Given the description of an element on the screen output the (x, y) to click on. 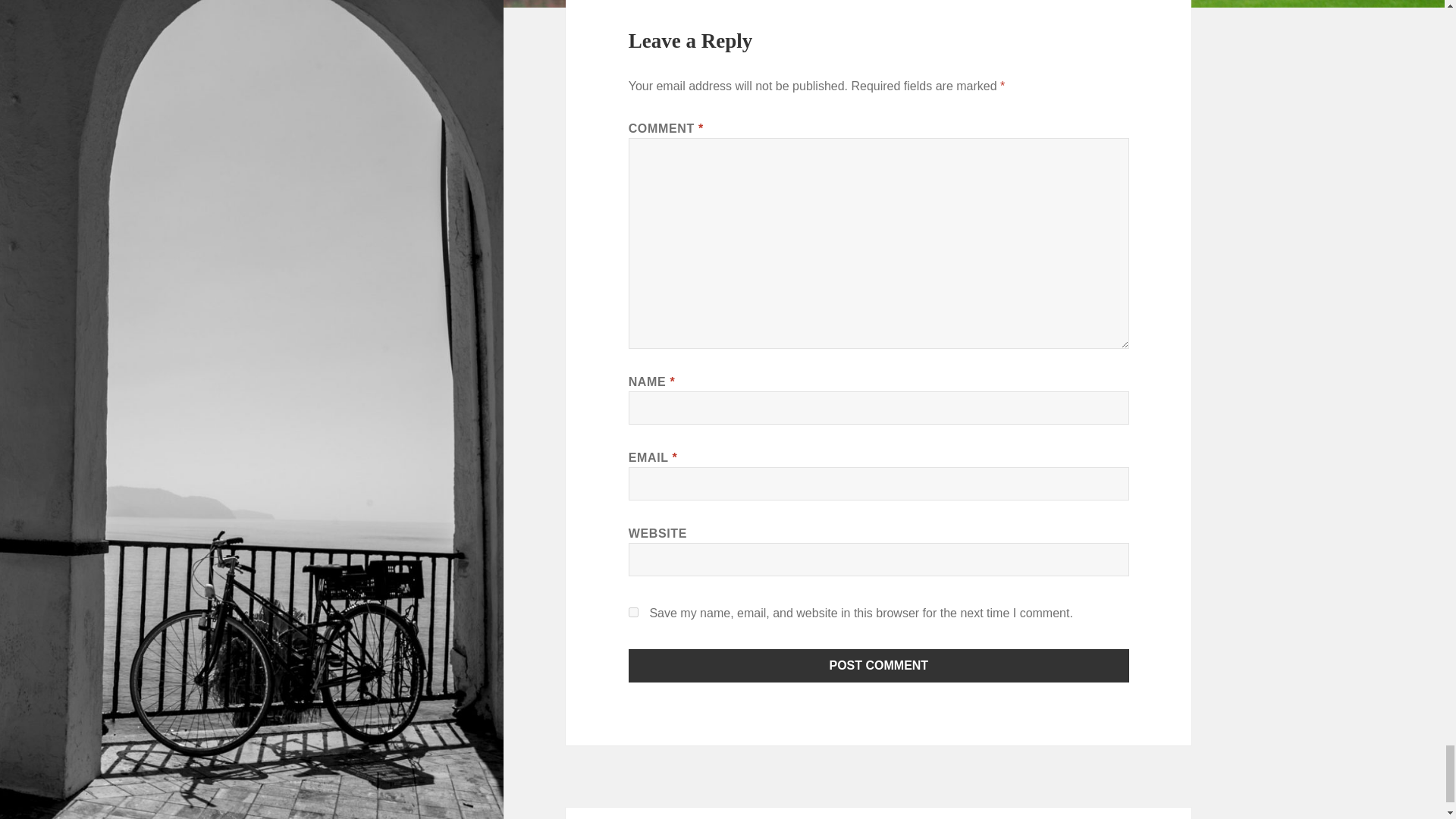
Post Comment (878, 665)
Post Comment (878, 665)
yes (633, 612)
